Given the description of an element on the screen output the (x, y) to click on. 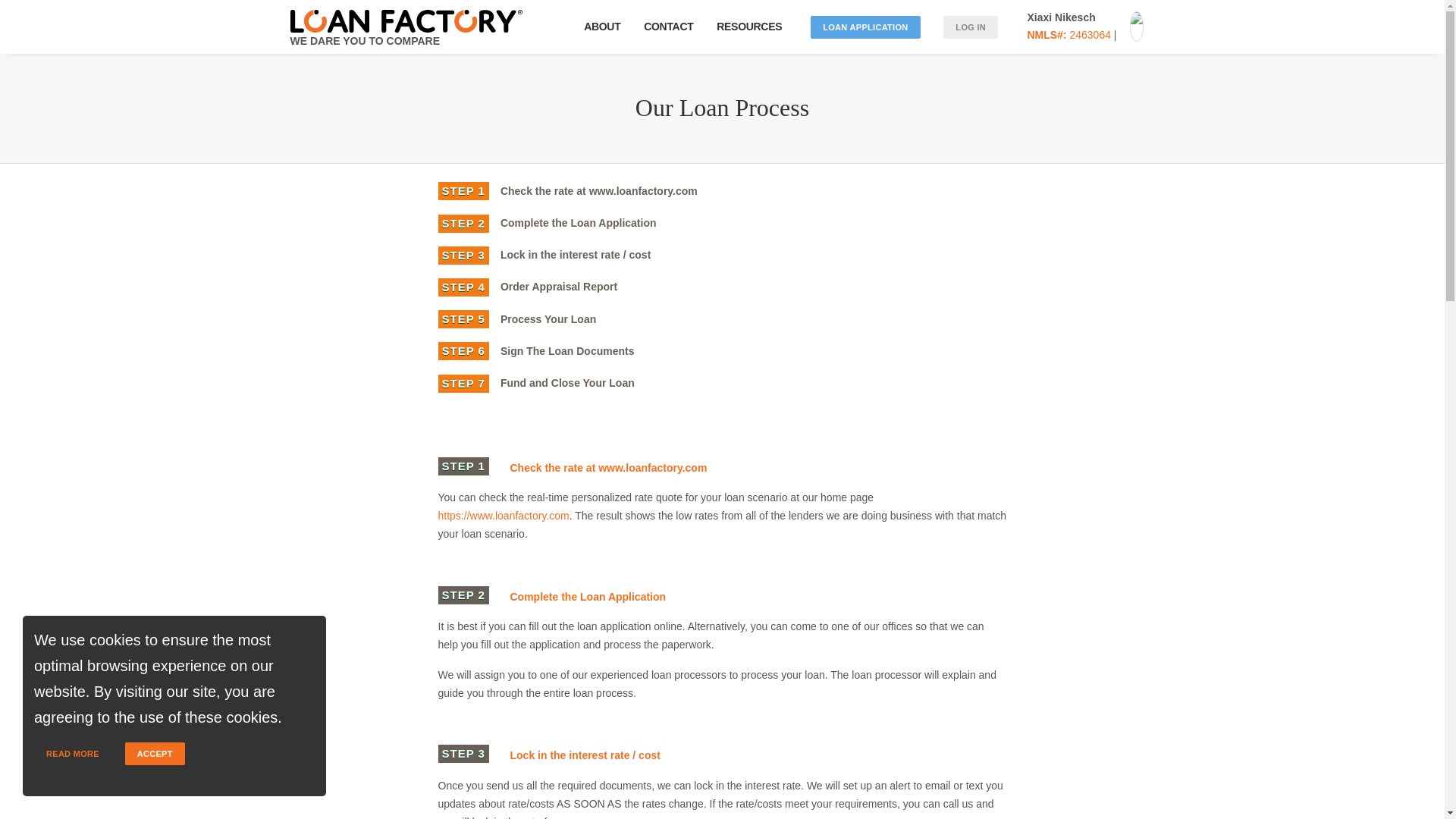
Complete the Loan Application (587, 596)
RESOURCES   (751, 27)
LOAN APPLICATION (865, 27)
Complete the Loan Application (578, 221)
Sign The Loan Documents (567, 350)
LOG IN (971, 27)
Fund and Close Your Loan (567, 381)
LOAN APPLICATION (865, 26)
Process Your Loan (547, 318)
Order Appraisal Report  (560, 285)
CONTACT (668, 27)
Check the rate at www.loanfactory.com (598, 189)
Check the rate at www.loanfactory.com (607, 467)
ABOUT (602, 27)
LOG IN (970, 26)
